Given the description of an element on the screen output the (x, y) to click on. 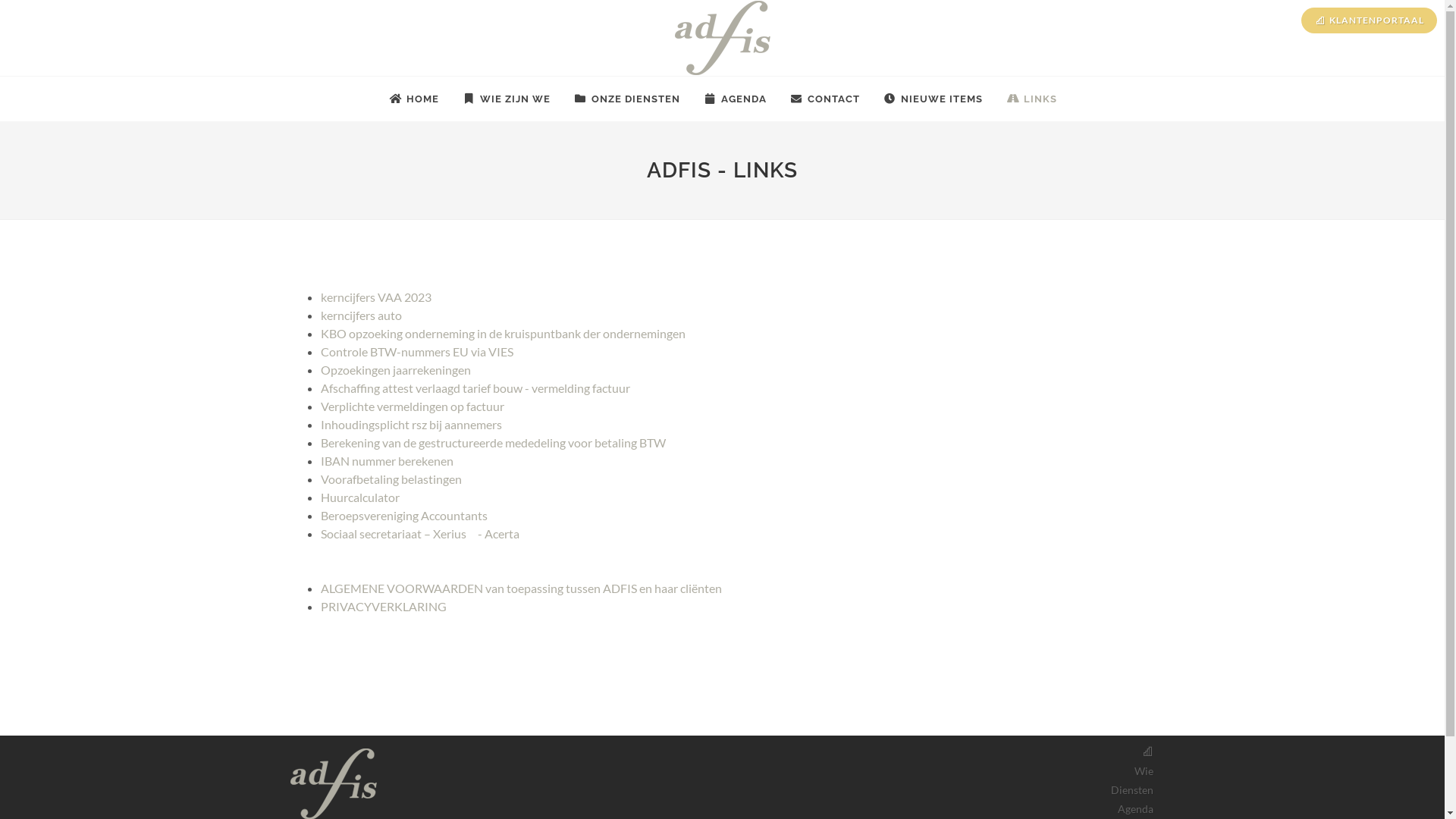
Controle BTW-nummers EU via VIES Element type: text (416, 351)
Inhoudingsplicht rsz bij aannemers Element type: text (410, 424)
ONZE DIENSTEN Element type: text (626, 99)
PRIVACYVERKLARING Element type: text (382, 606)
kerncijfers auto Element type: text (360, 314)
CONTACT Element type: text (825, 99)
Diensten Element type: text (1131, 789)
Agenda Element type: text (1135, 808)
kerncijfers VAA 2023 Element type: text (375, 296)
Opzoekingen jaarrekeningen Element type: text (395, 369)
Wie Element type: text (1143, 770)
NIEUWE ITEMS Element type: text (932, 99)
 - Acerta Element type: text (496, 533)
WIE ZIJN WE Element type: text (506, 99)
KLANTENPORTAAL Element type: text (1369, 20)
Verplichte vermeldingen op factuur Element type: text (411, 405)
Huurcalculator Element type: text (359, 496)
Afschaffing attest verlaagd tarief bouw - vermelding factuur Element type: text (474, 387)
Beroepsvereniging Accountants Element type: text (403, 515)
LINKS Element type: text (1030, 99)
AGENDA Element type: text (735, 99)
HOME Element type: text (413, 99)
IBAN nummer berekenen Element type: text (386, 460)
Voorafbetaling belastingen Element type: text (390, 478)
